Given the description of an element on the screen output the (x, y) to click on. 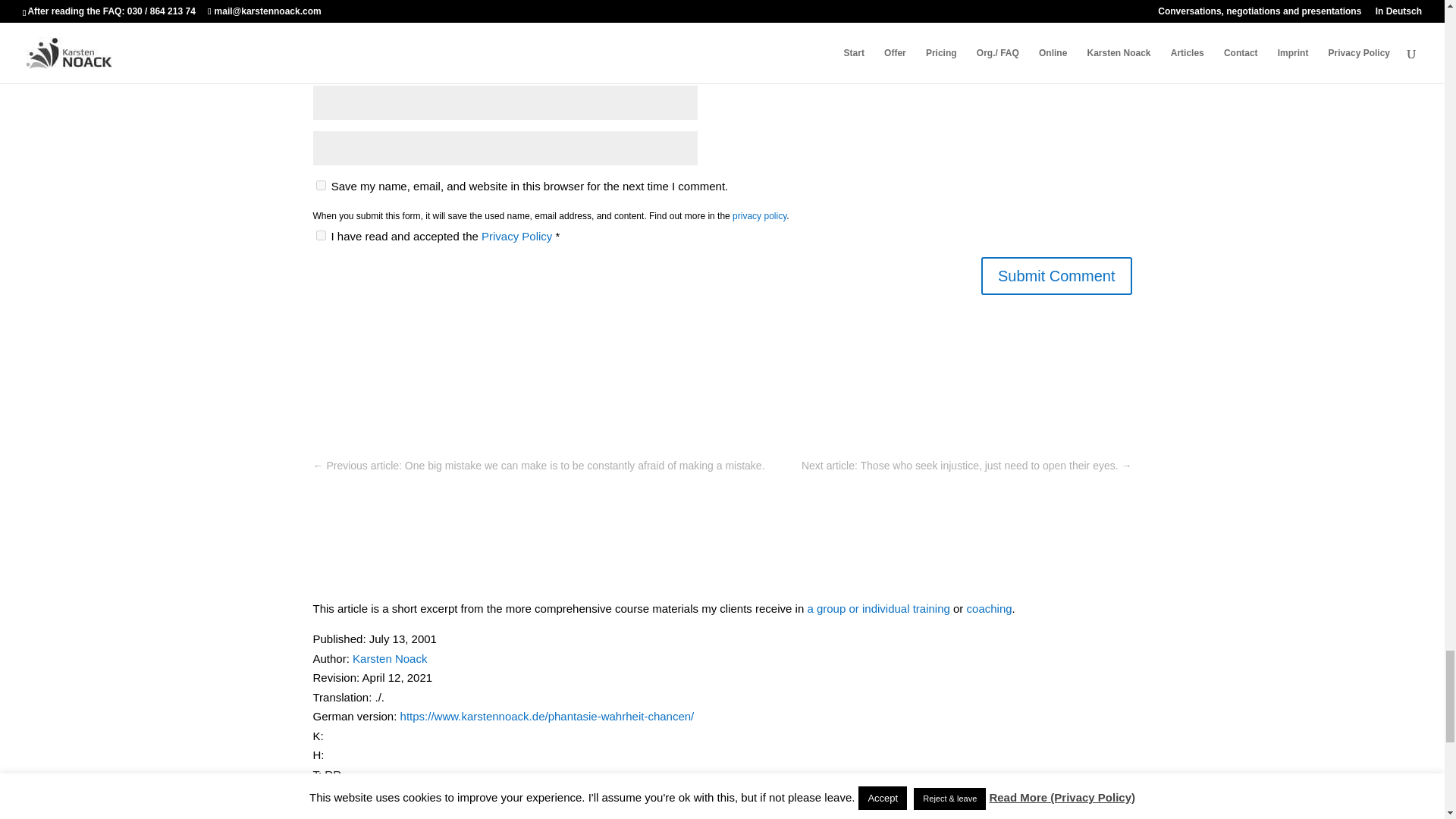
yes (319, 185)
policy-key (319, 235)
